Given the description of an element on the screen output the (x, y) to click on. 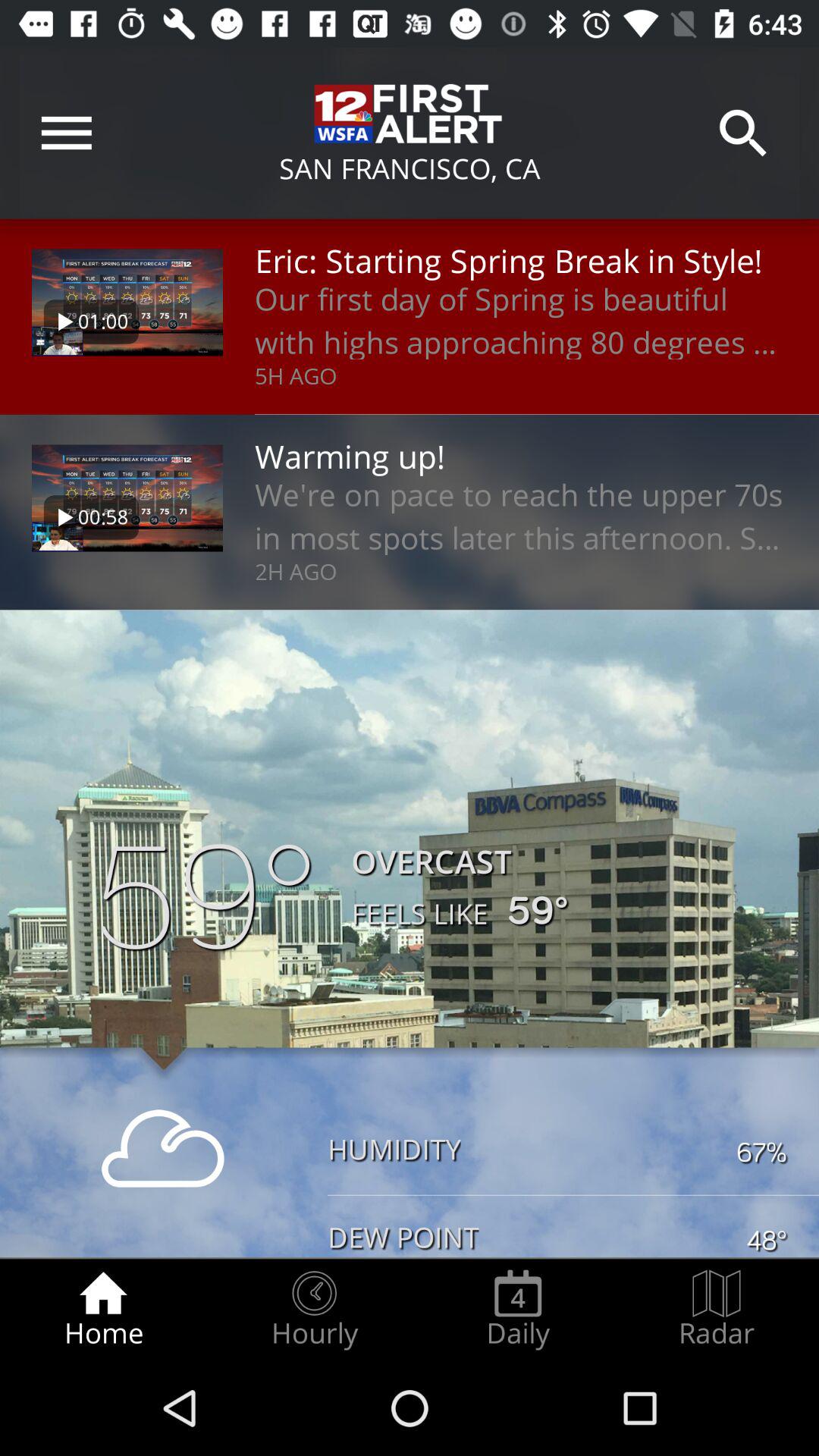
turn off the hourly icon (314, 1309)
